Given the description of an element on the screen output the (x, y) to click on. 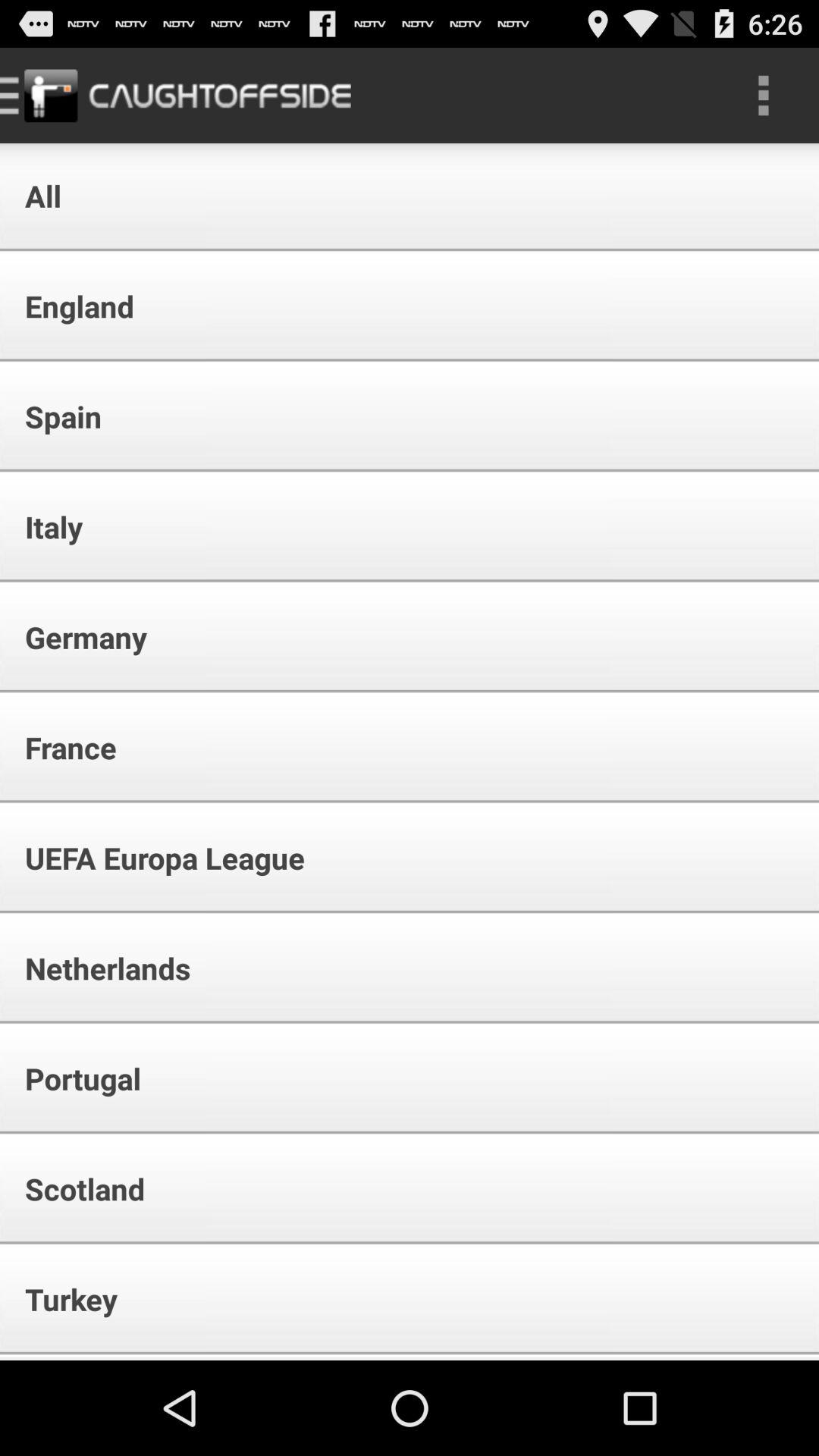
turn on the icon above france icon (76, 637)
